Given the description of an element on the screen output the (x, y) to click on. 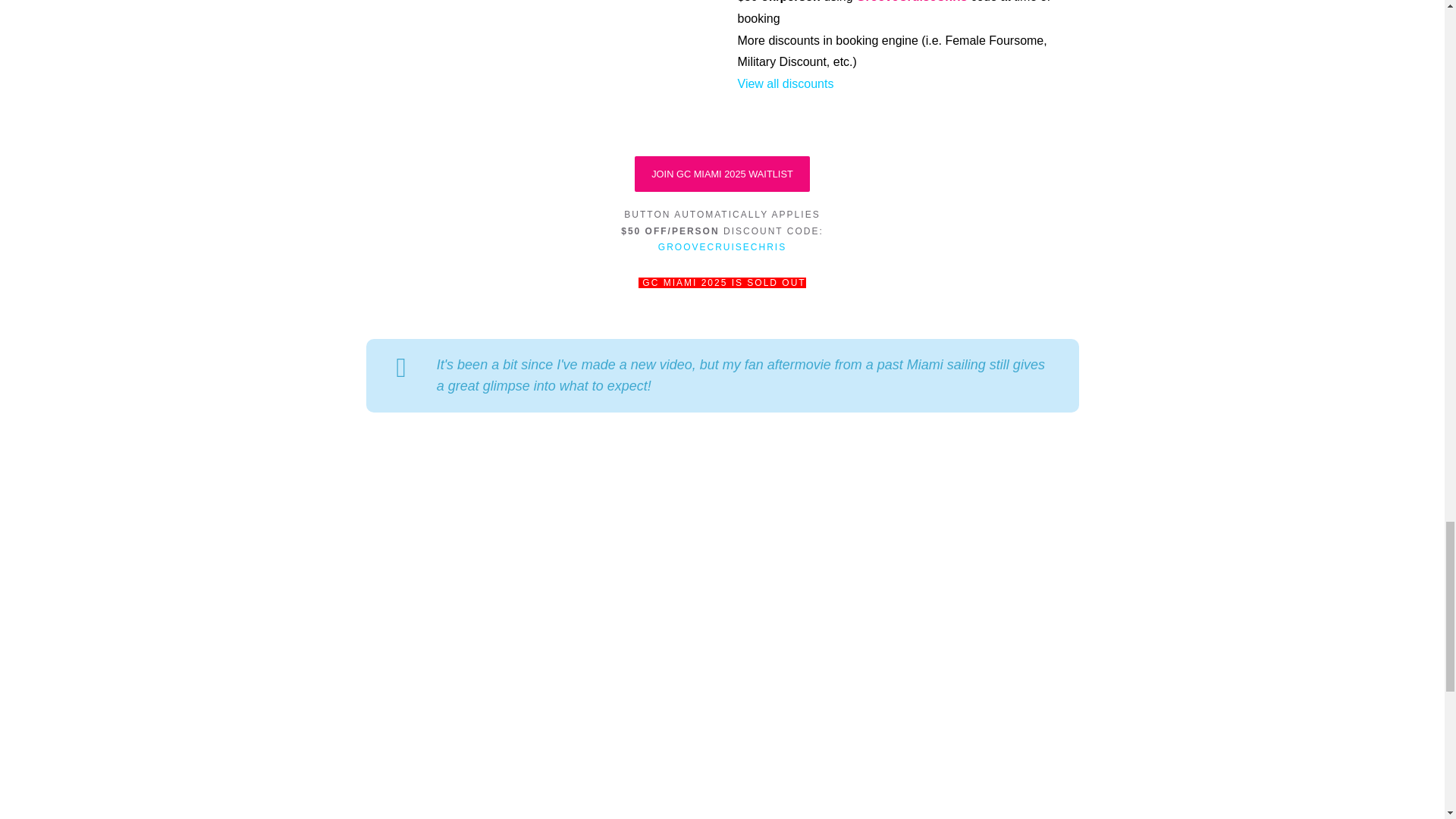
GROOVECRUISECHRIS (722, 246)
View all discounts (784, 83)
GrooveCruiseChris (912, 1)
JOIN GC MIAMI 2025 WAITLIST (721, 173)
